Given the description of an element on the screen output the (x, y) to click on. 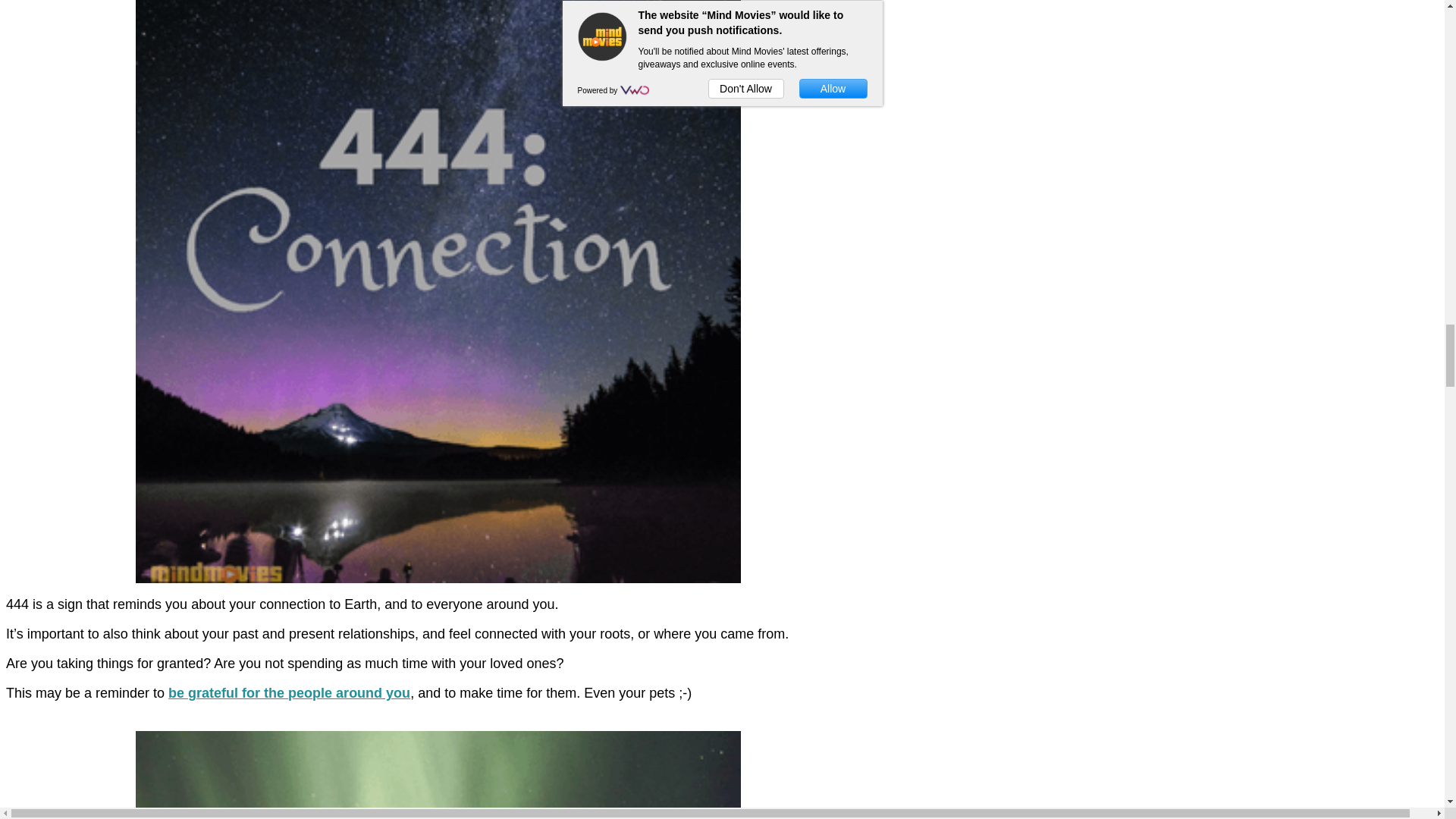
be grateful for the people around you (289, 693)
